Given the description of an element on the screen output the (x, y) to click on. 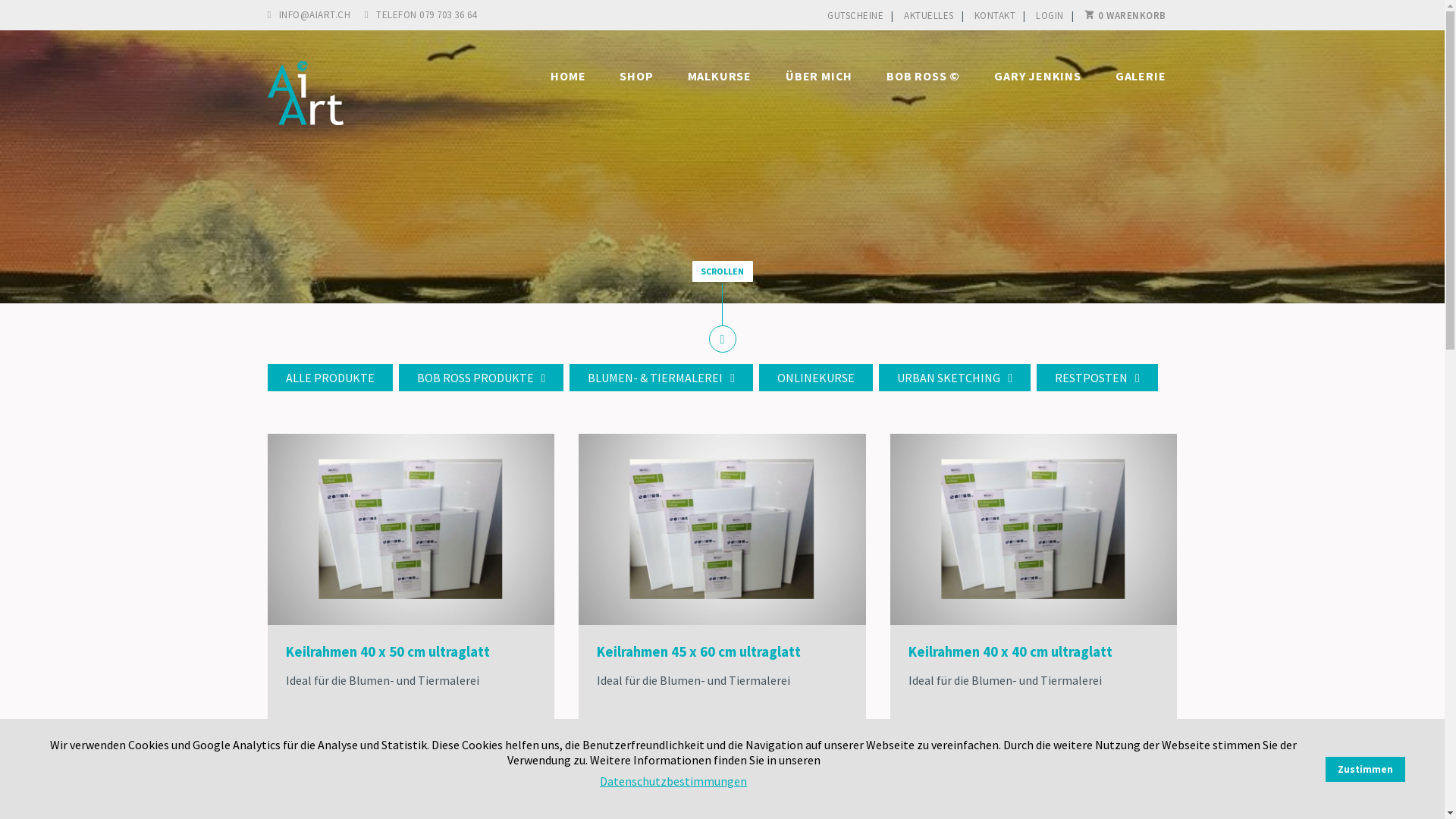
SCROLLEN Element type: text (721, 271)
KONTAKT Element type: text (994, 15)
Leinwand Keilrahmen Element type: hover (722, 528)
HOME Element type: text (565, 75)
ONLINEKURSE Element type: text (815, 377)
Datenschutzbestimmungen Element type: text (672, 780)
SHOP Element type: text (634, 75)
In den Warenkorb Element type: text (1086, 776)
  Element type: text (266, 396)
TELEFON 079 703 36 64 Element type: text (414, 14)
Leinwand ultraglatt Element type: hover (1033, 528)
GALERIE Element type: text (1138, 75)
BOB ROSS PRODUKTE Element type: text (481, 377)
GUTSCHEINE Element type: text (855, 15)
Zustimmen Element type: text (1365, 768)
RESTPOSTEN Element type: text (1096, 377)
ALLE PRODUKTE Element type: text (329, 377)
MALKURSE Element type: text (717, 75)
GARY JENKINS Element type: text (1035, 75)
INFO@AIART.CH Element type: text (308, 14)
LOGIN Element type: text (1049, 15)
In den Warenkorb Element type: text (774, 776)
BLUMEN- & TIERMALEREI Element type: text (661, 377)
  Element type: text (826, 30)
Keilrahmen 40 x 40 cm ultraglatt Element type: text (1010, 651)
Keilrahmen 45 x 60 cm ultraglatt Element type: text (698, 651)
Leinwand Keilrahmen Element type: hover (410, 528)
Keilrahmen 40 x 50 cm ultraglatt Element type: text (387, 651)
In den Warenkorb Element type: text (463, 776)
0 WARENKORB Element type: text (1125, 15)
URBAN SKETCHING Element type: text (954, 377)
AKTUELLES Element type: text (928, 15)
